Given the description of an element on the screen output the (x, y) to click on. 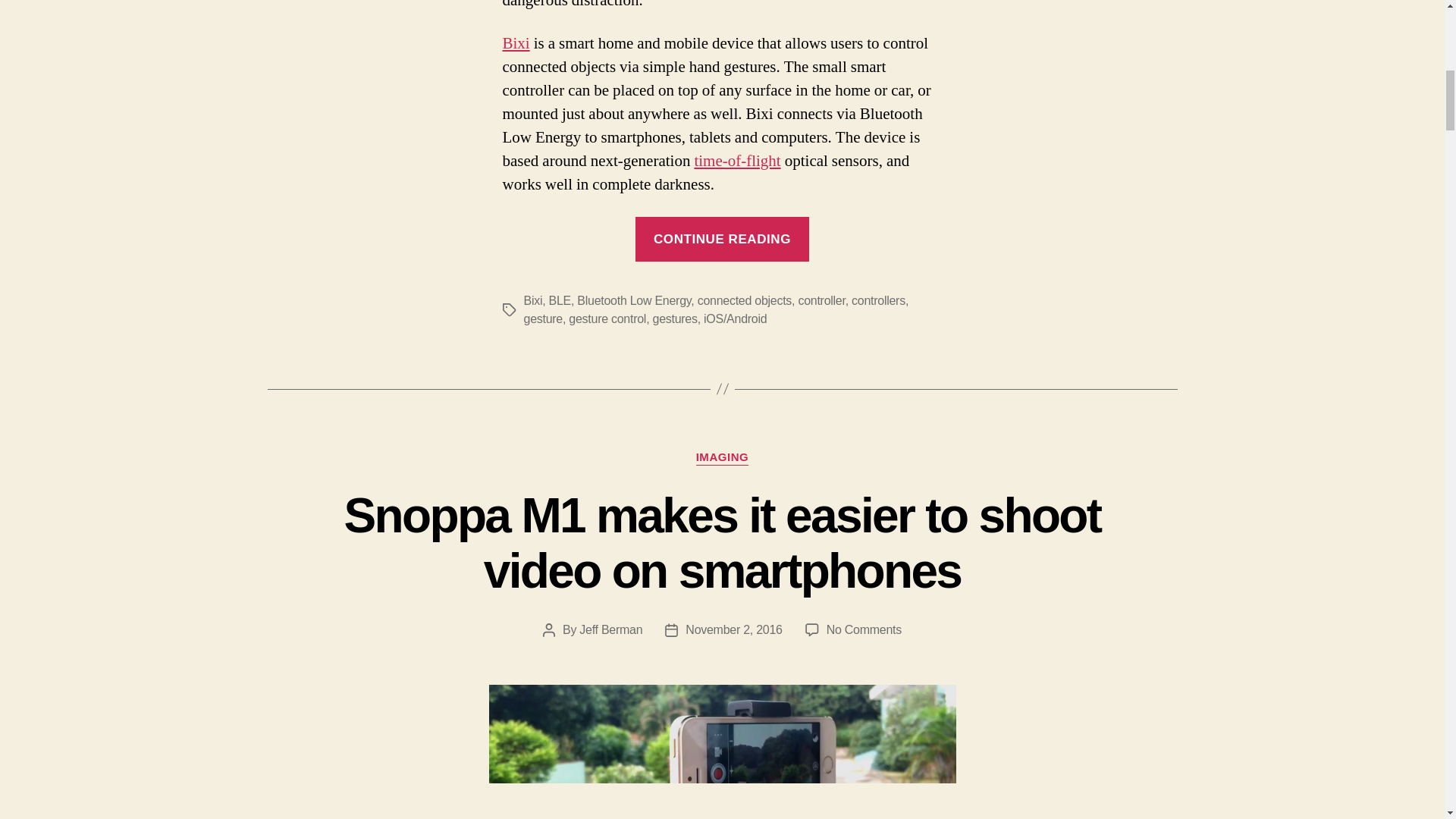
gestures (674, 318)
IMAGING (722, 458)
Bixi (531, 300)
BLE (559, 300)
time-of-flight (737, 160)
controllers (878, 300)
gesture (542, 318)
Bluetooth Low Energy (633, 300)
Bixi (515, 43)
